Given the description of an element on the screen output the (x, y) to click on. 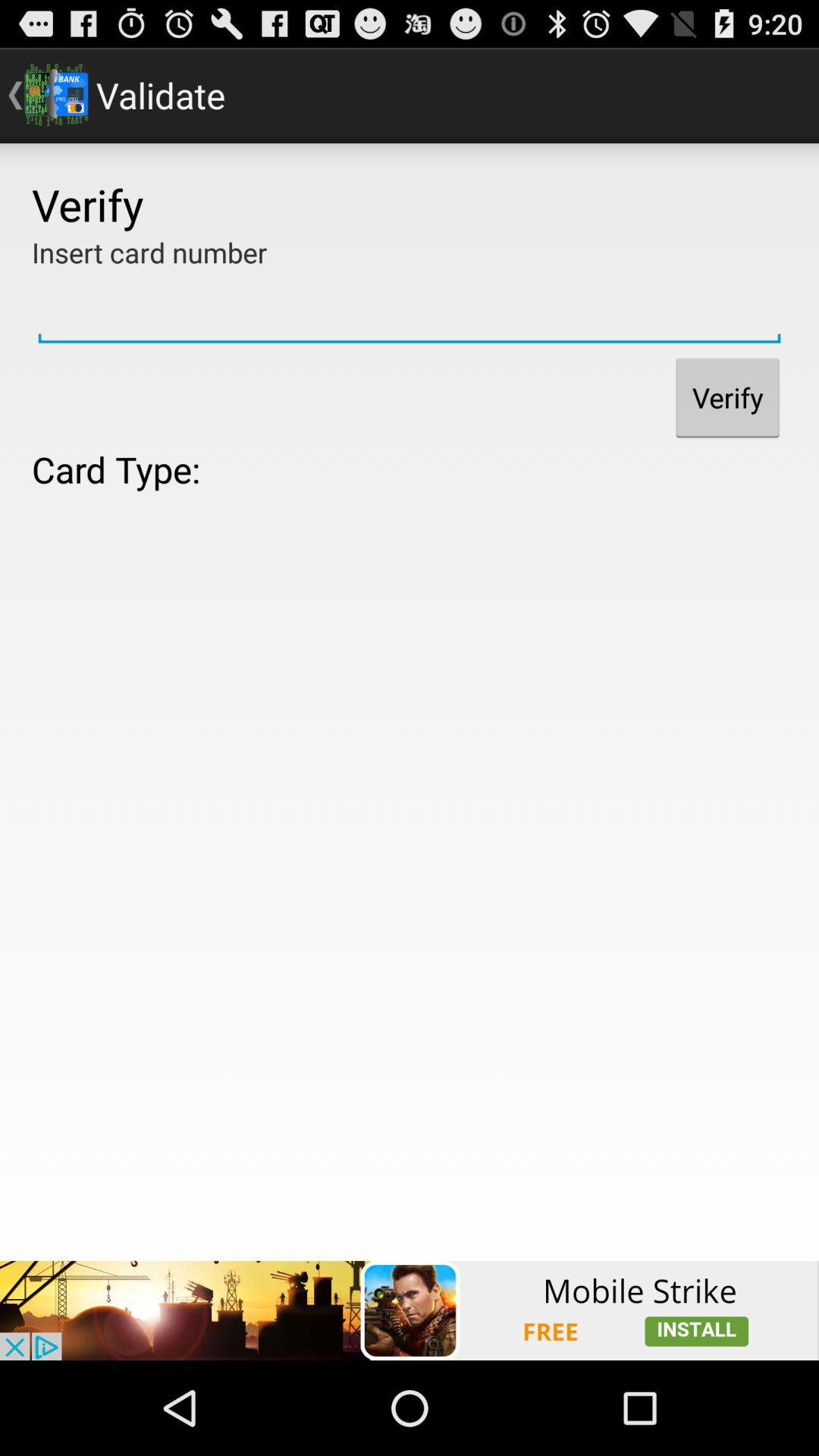
show advertisement (409, 1310)
